Given the description of an element on the screen output the (x, y) to click on. 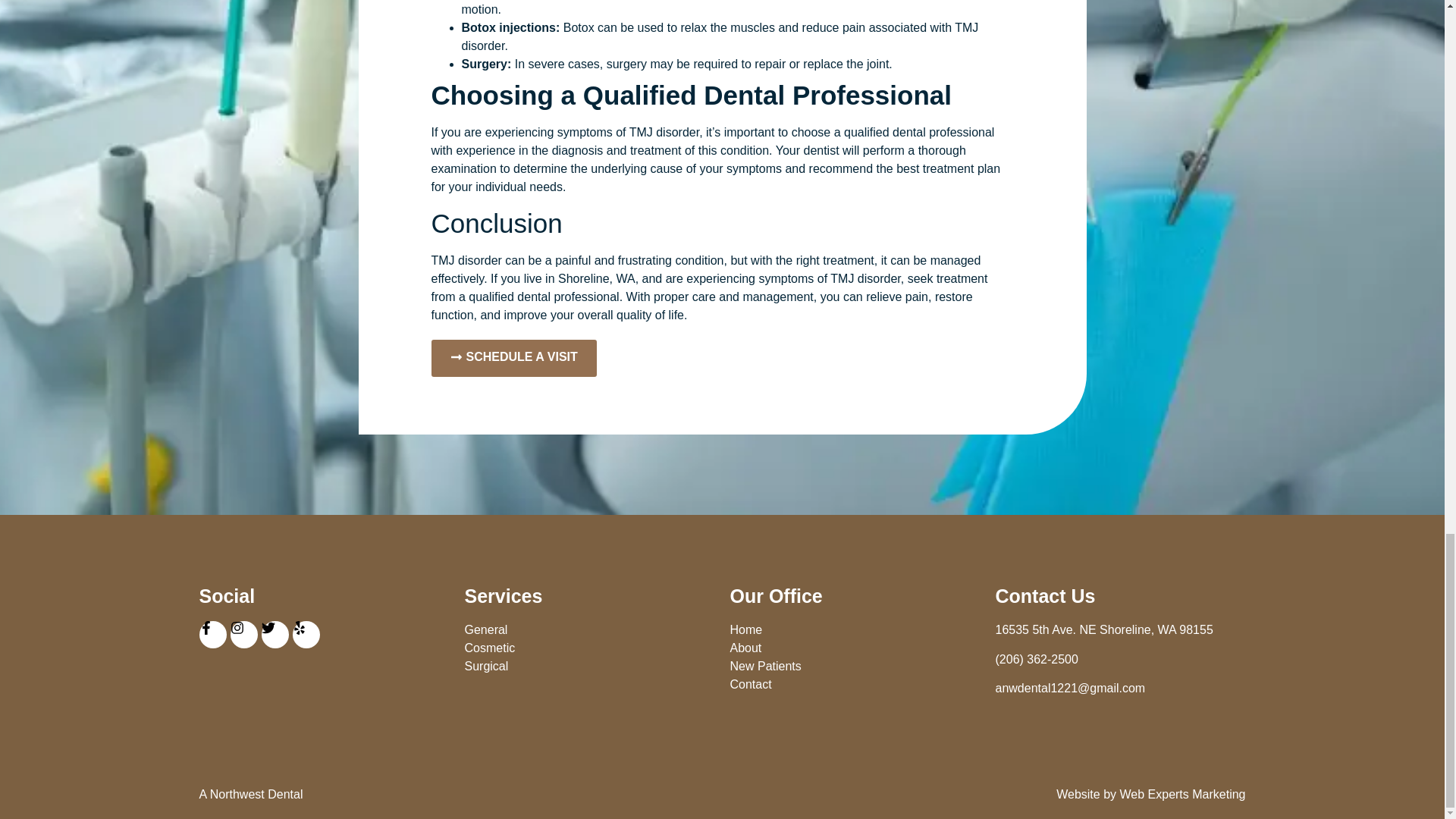
About (854, 648)
New Patients (854, 666)
Home (854, 629)
SCHEDULE A VISIT (512, 357)
Contact (854, 684)
